Given the description of an element on the screen output the (x, y) to click on. 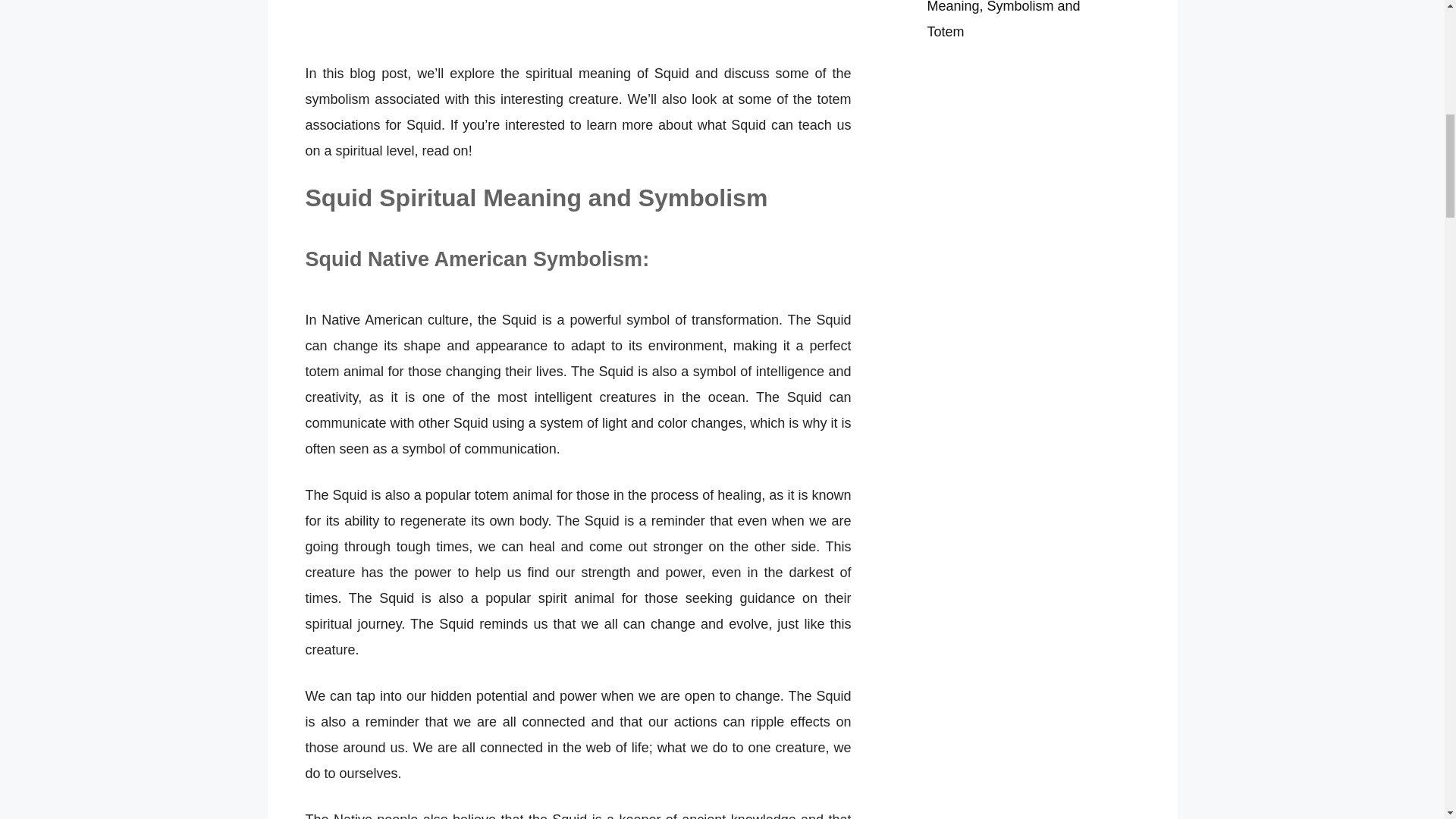
Scroll back to top (1406, 720)
Spotted Eagle Ray Spiritual Meaning, Symbolism and Totem (1009, 19)
